Given the description of an element on the screen output the (x, y) to click on. 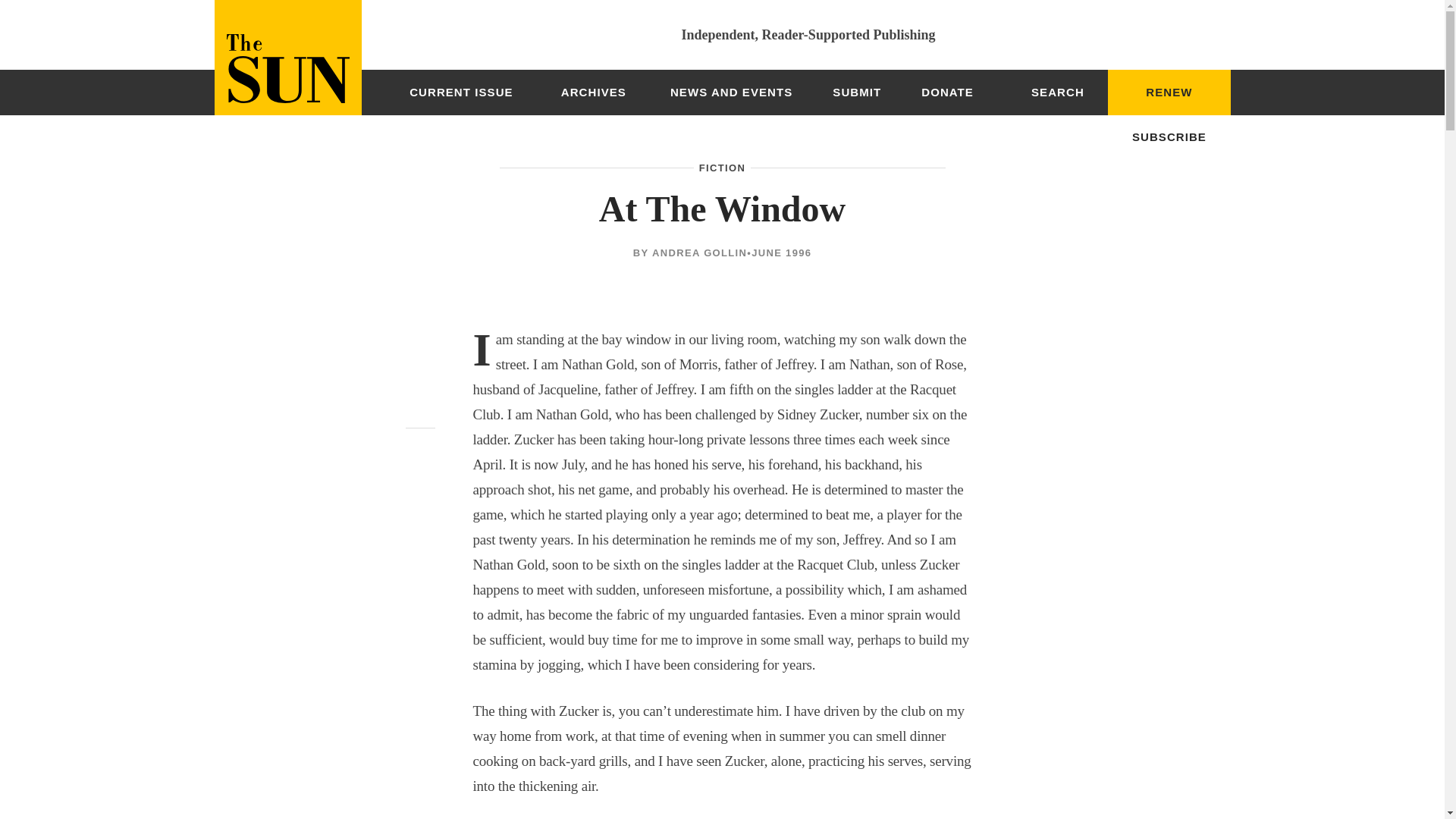
CURRENT ISSUE (461, 92)
ARCHIVES (593, 92)
NEWS AND EVENTS (730, 92)
